Given the description of an element on the screen output the (x, y) to click on. 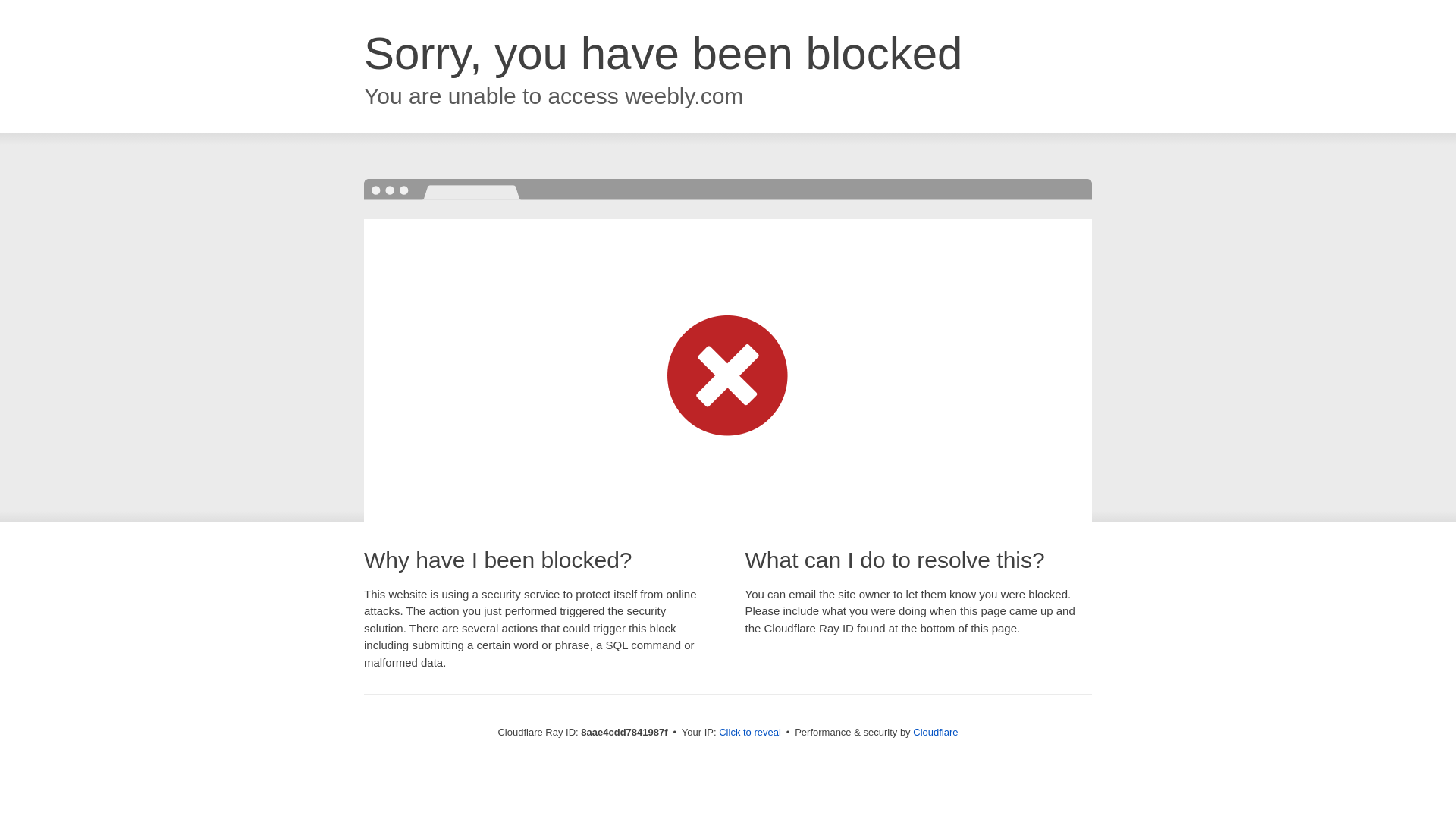
Cloudflare (935, 731)
Click to reveal (749, 732)
